Given the description of an element on the screen output the (x, y) to click on. 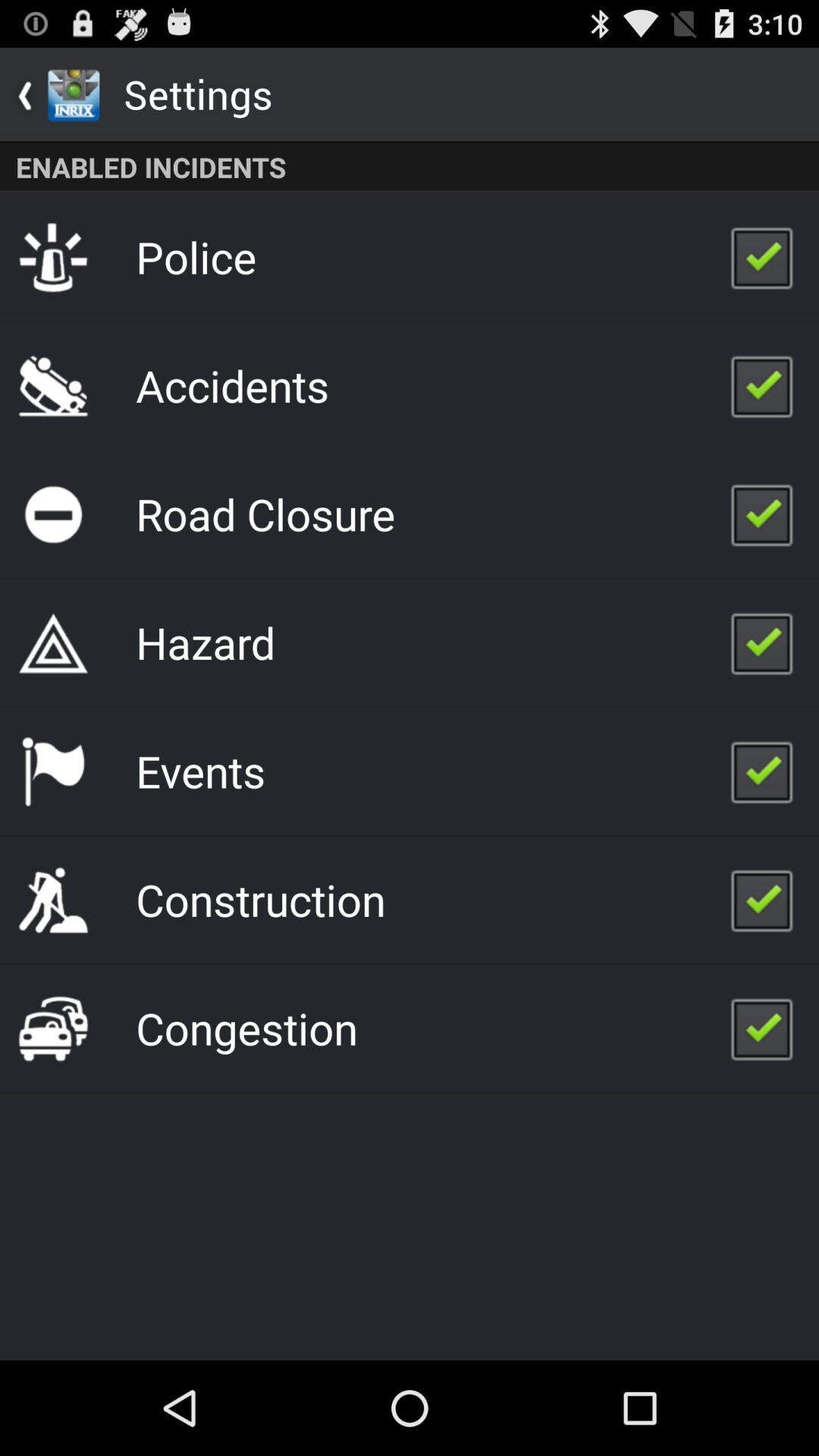
open accidents item (232, 385)
